Given the description of an element on the screen output the (x, y) to click on. 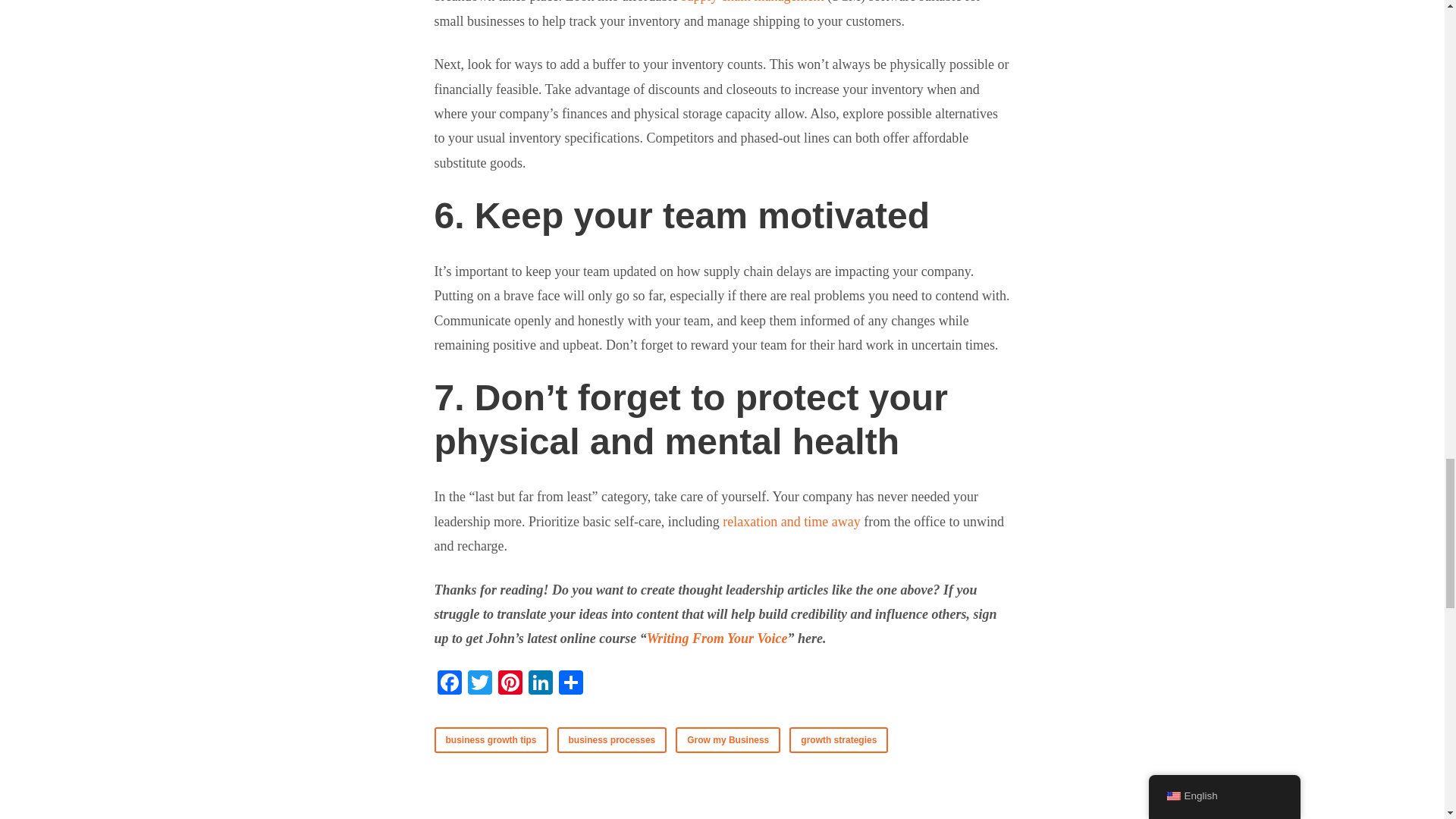
Facebook (448, 684)
Writing From Your Voice (716, 638)
Grow my Business (727, 740)
business processes (611, 740)
Facebook (448, 684)
business growth tips (490, 740)
Pinterest (509, 684)
growth strategies (838, 740)
Pinterest (509, 684)
relaxation and time away (791, 521)
